Given the description of an element on the screen output the (x, y) to click on. 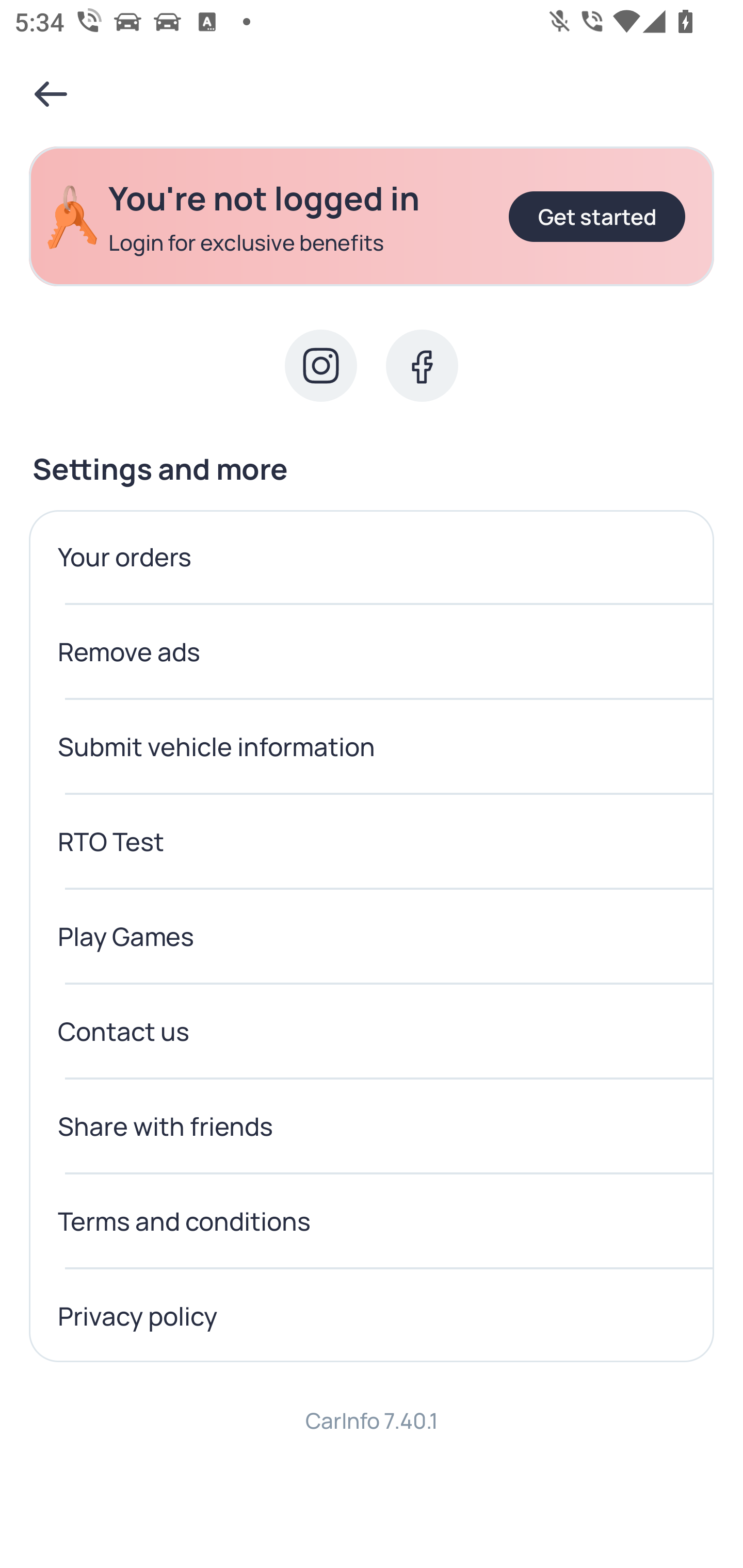
Your orders (371, 557)
Remove ads (371, 652)
Submit vehicle information (371, 746)
RTO Test (371, 841)
Play Games (371, 936)
Contact us (371, 1031)
Share with friends (371, 1126)
Terms and conditions (371, 1222)
Privacy policy (371, 1316)
